Given the description of an element on the screen output the (x, y) to click on. 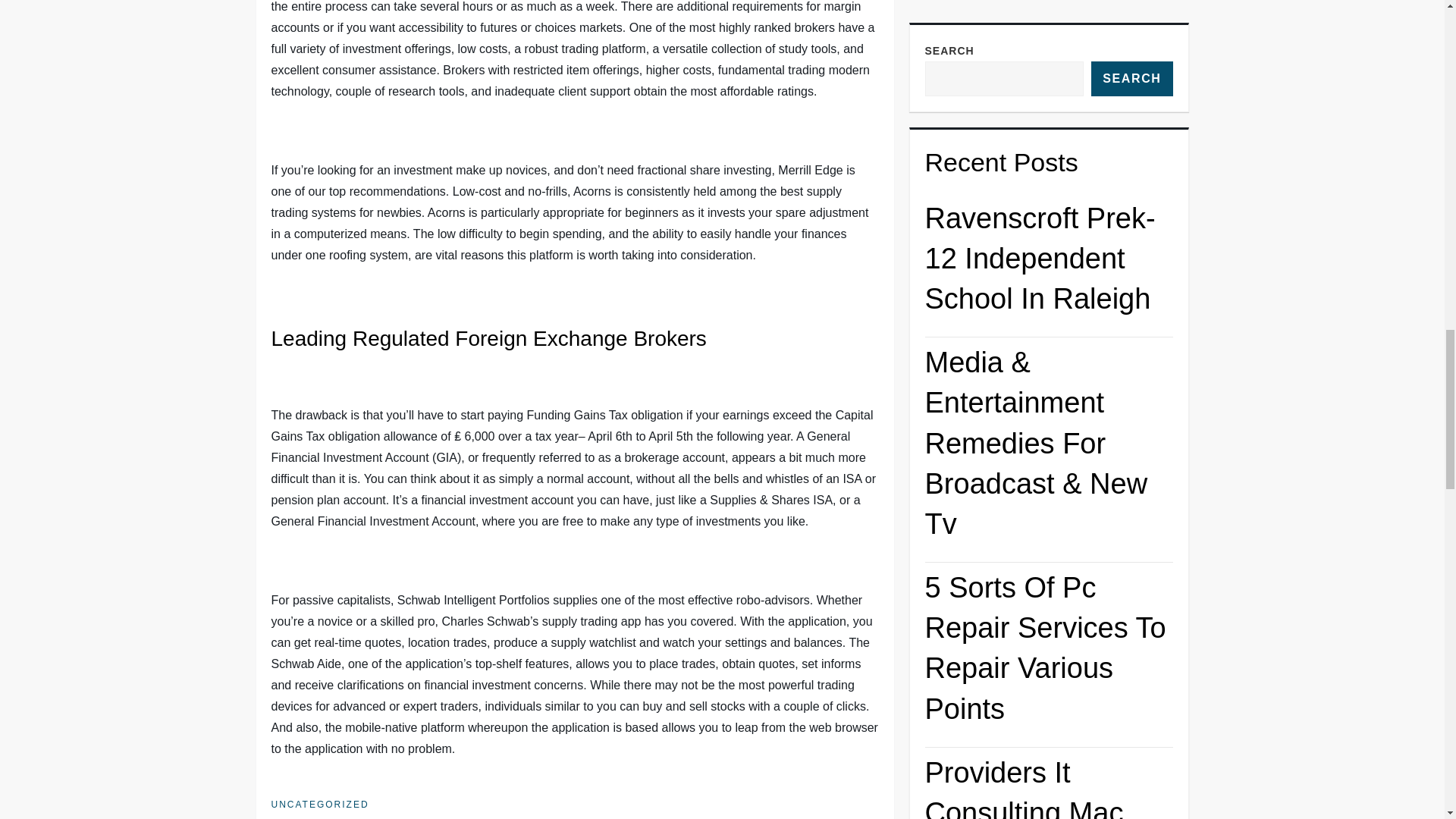
UNCATEGORIZED (319, 805)
